Given the description of an element on the screen output the (x, y) to click on. 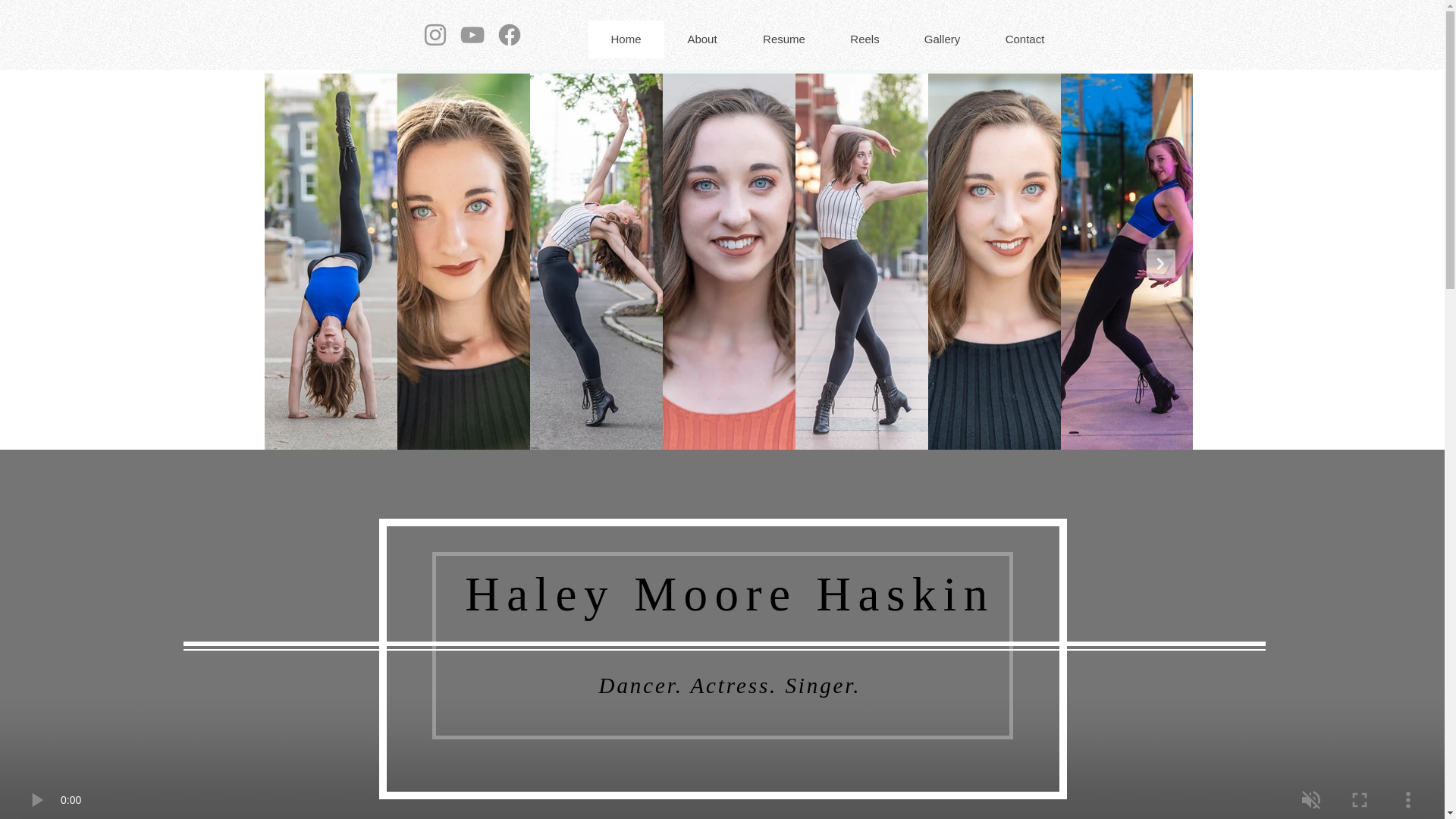
Gallery (941, 39)
Resume (783, 39)
Reels (864, 39)
Home (625, 39)
About (701, 39)
Contact (1024, 39)
